Given the description of an element on the screen output the (x, y) to click on. 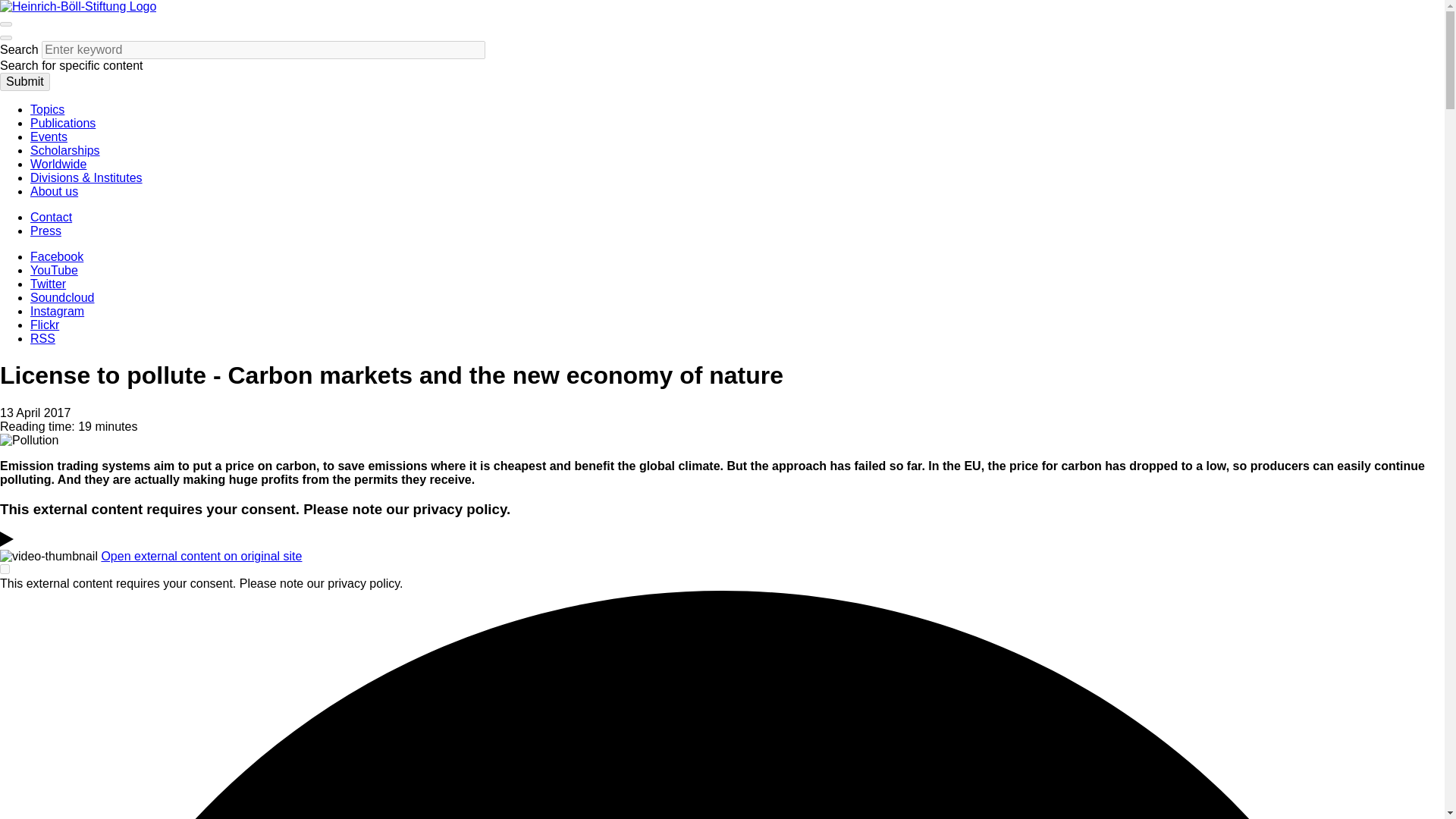
Facebook (56, 256)
Press (45, 230)
Flickr (44, 324)
Smoke coming out of pipe (29, 440)
Submit (24, 81)
Worldwide (57, 164)
on (5, 569)
Home (77, 6)
Soundcloud (62, 297)
Publications (63, 123)
RSS (42, 338)
YouTube (54, 269)
Events (48, 136)
Submit (24, 81)
